Given the description of an element on the screen output the (x, y) to click on. 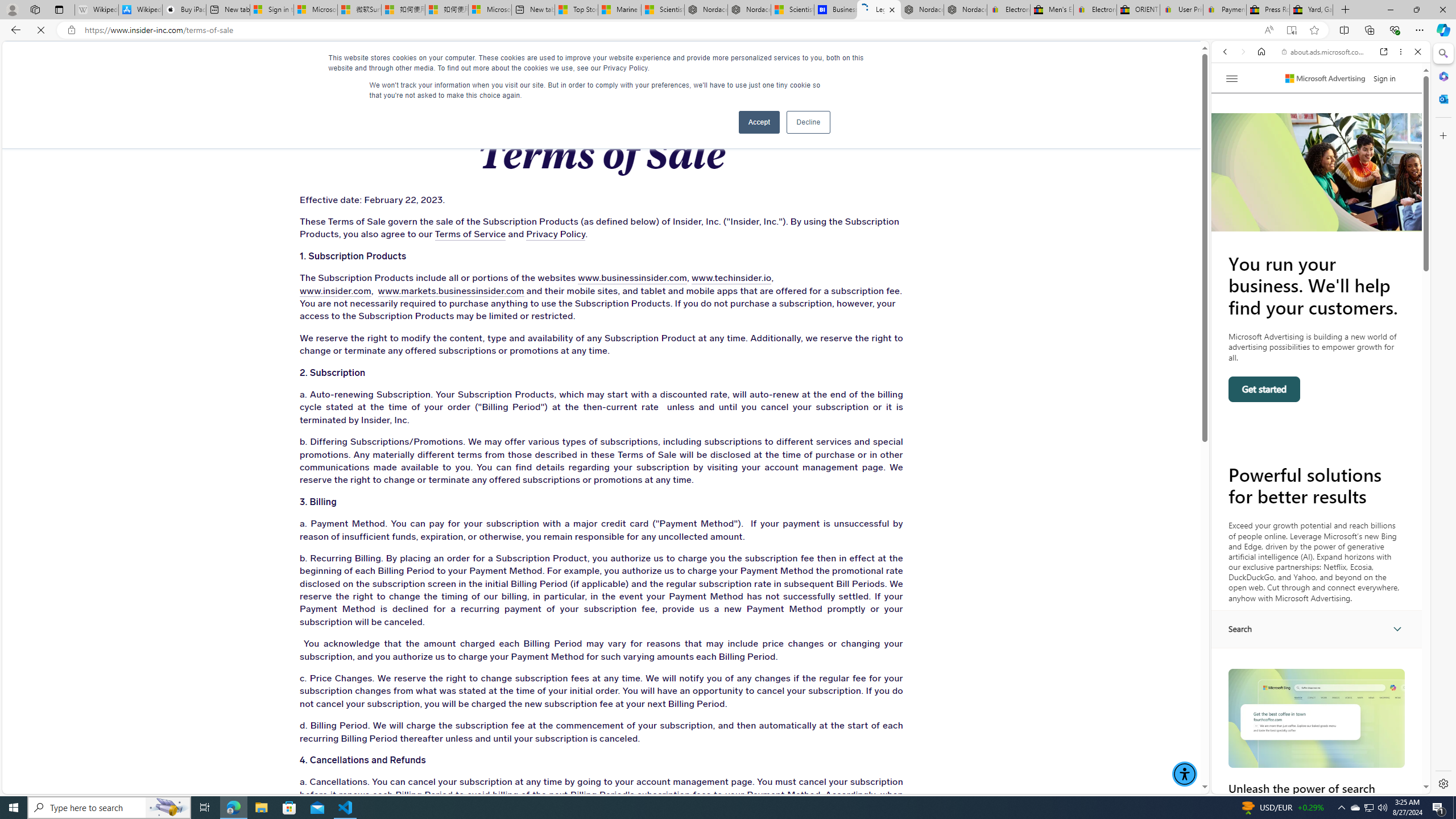
Minimize Search pane (1442, 53)
Terms of Service (397, 234)
Open in New Tab (1321, 768)
www.markets.businessinsider.com (438, 290)
CAREERS (829, 62)
